Given the description of an element on the screen output the (x, y) to click on. 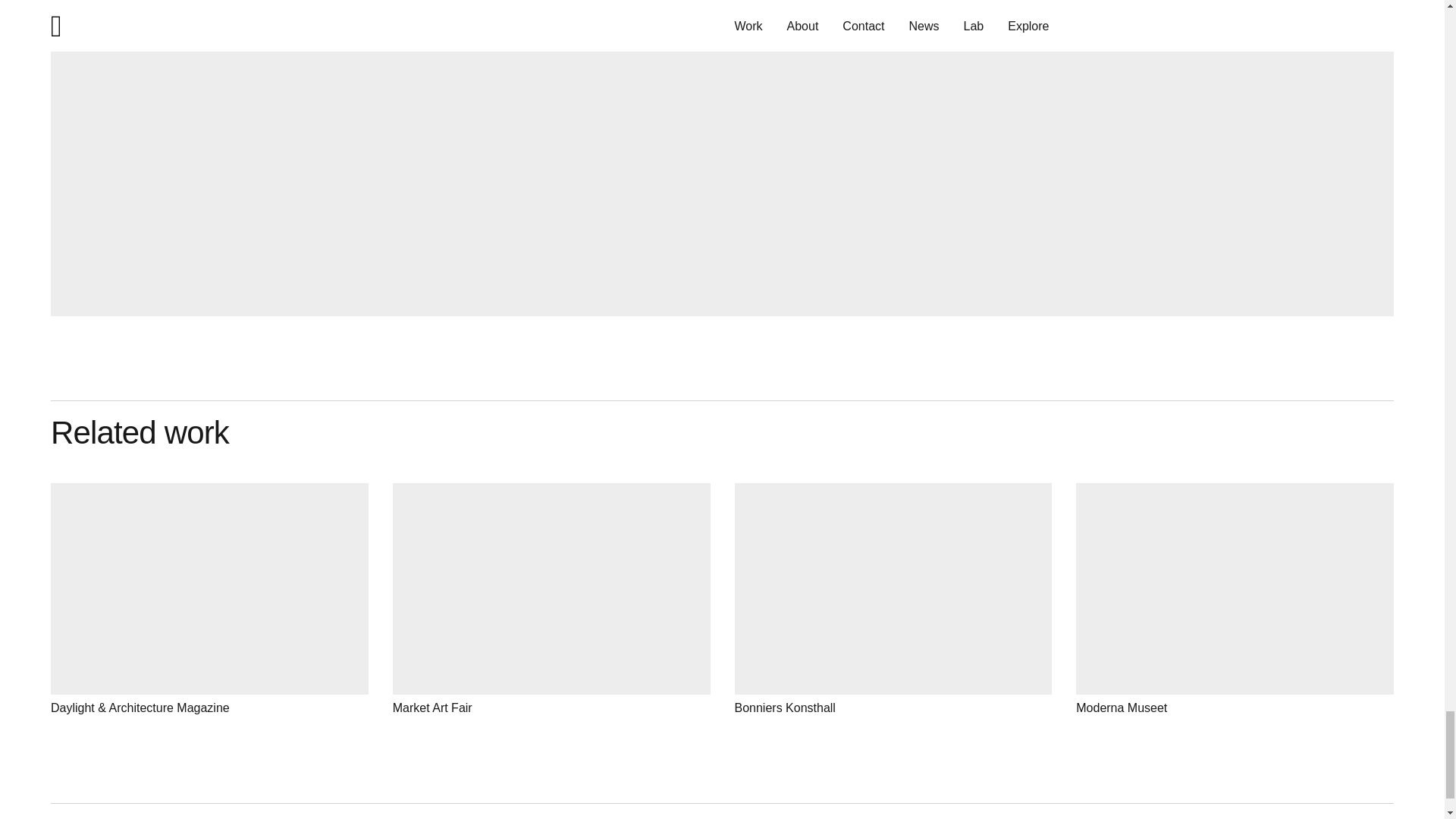
Moderna Museet (1234, 599)
Market Art Fair (551, 599)
Bonniers Konsthall (892, 599)
